Given the description of an element on the screen output the (x, y) to click on. 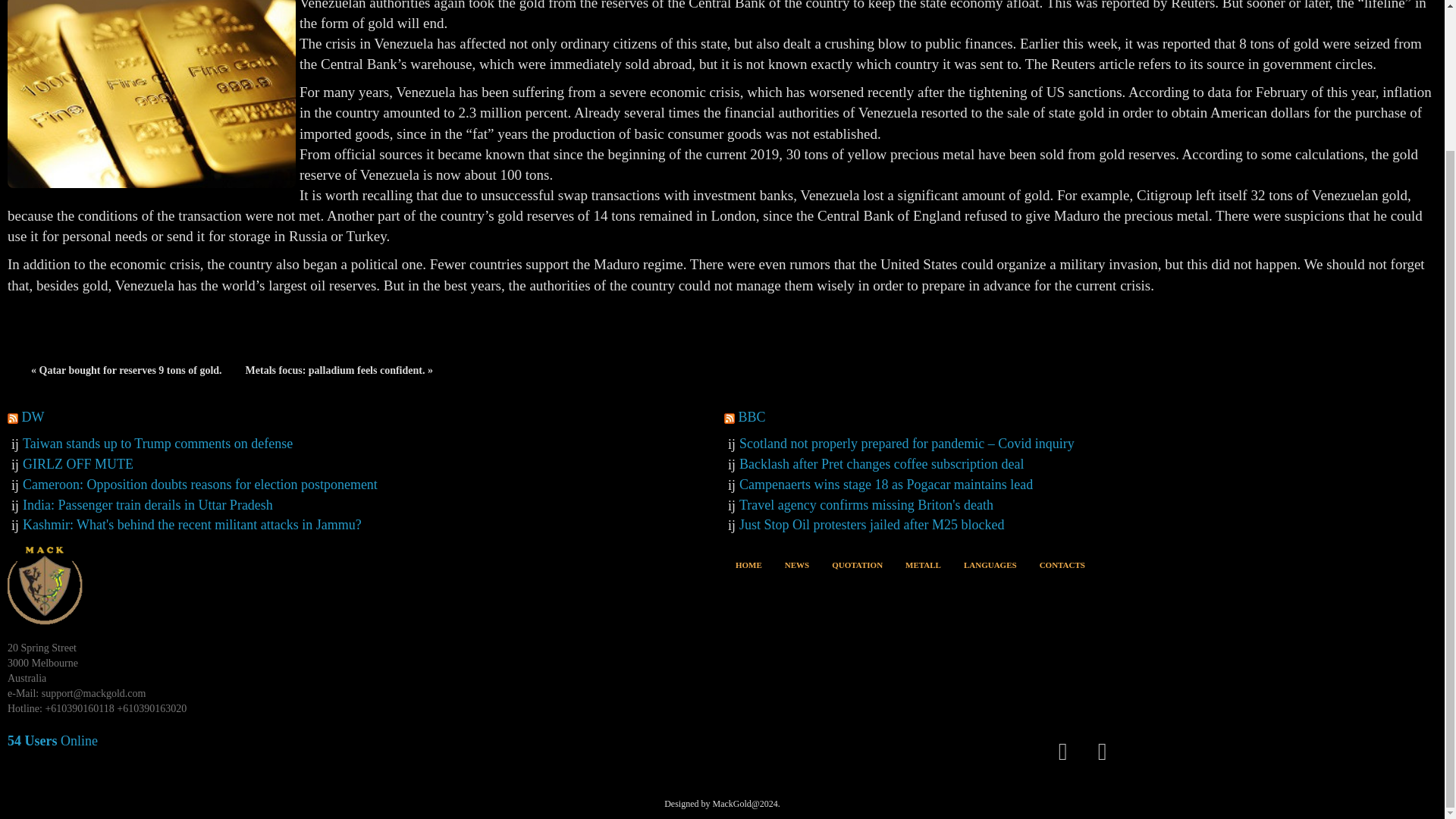
BBC (751, 417)
CONTACTS (1061, 563)
Twitter (1102, 751)
Twitter (1101, 751)
METALL (922, 563)
DW (32, 417)
Facebook (1062, 751)
54 Users Online (52, 740)
Qatar bought for reserves 9 tons of gold. (126, 370)
LANGUAGES (989, 563)
NEWS (796, 563)
QUOTATION (856, 563)
Taiwan stands up to Trump comments on defense (157, 443)
Travel agency confirms missing Briton's death (865, 504)
Just Stop Oil protesters jailed after M25 blocked (871, 524)
